Given the description of an element on the screen output the (x, y) to click on. 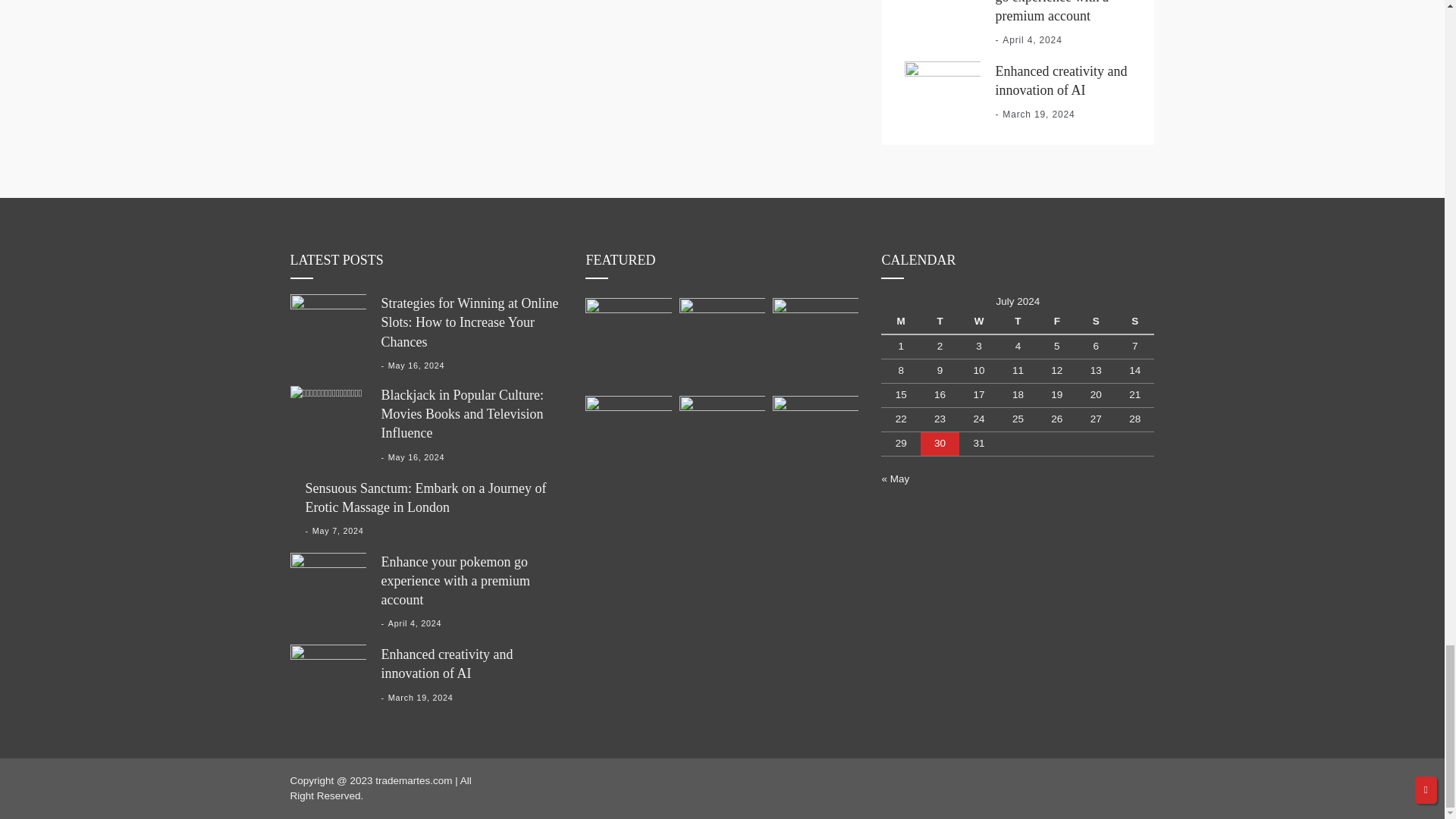
Wednesday (978, 322)
Monday (900, 322)
Saturday (1096, 322)
Sunday (1134, 322)
Tuesday (939, 322)
Friday (1055, 322)
Thursday (1017, 322)
